Given the description of an element on the screen output the (x, y) to click on. 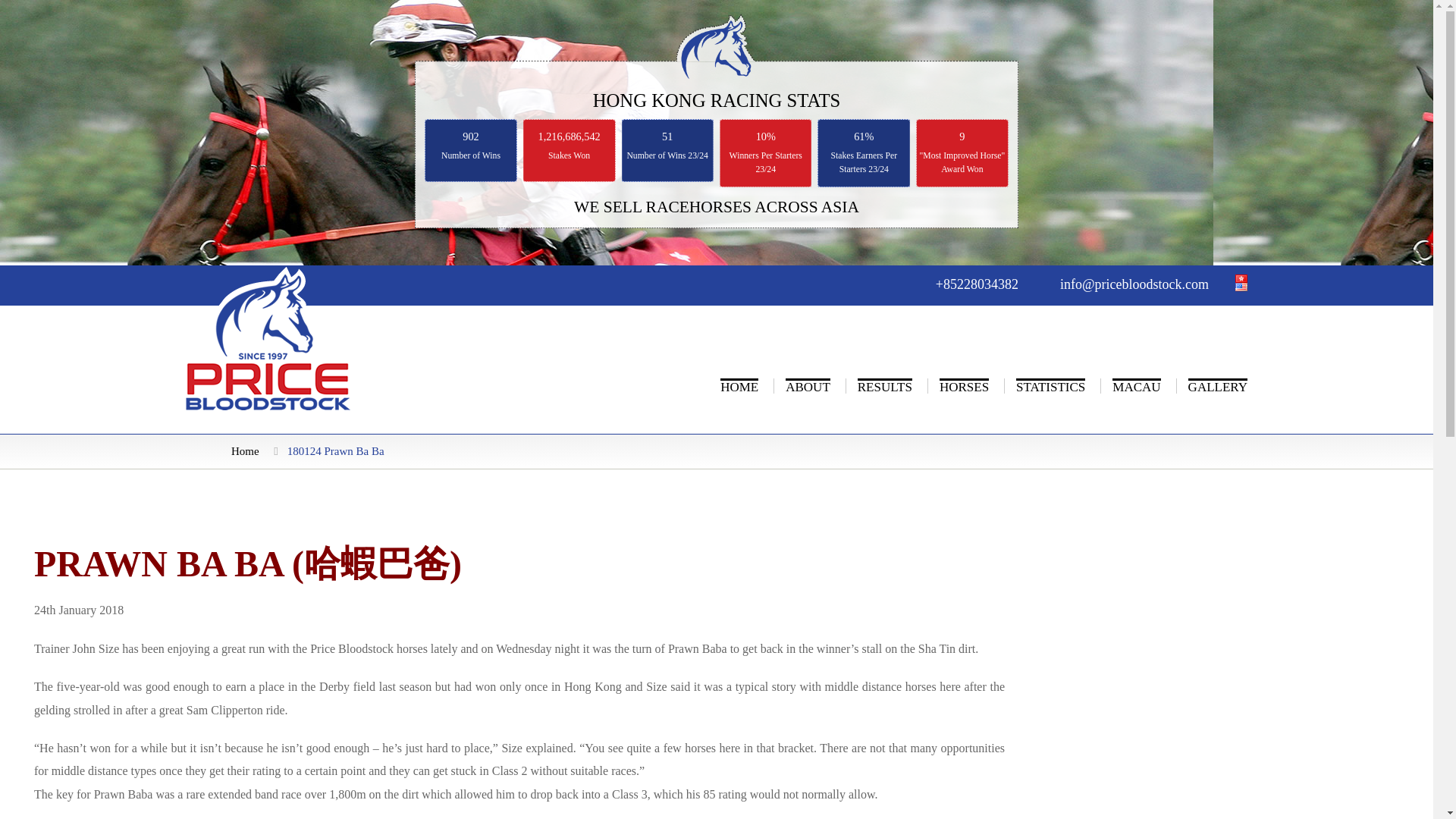
ABOUT (807, 385)
MACAU (1136, 385)
RESULTS (884, 385)
HORSES (963, 385)
HOME (739, 385)
GALLERY (1217, 385)
STATISTICS (1050, 385)
